Given the description of an element on the screen output the (x, y) to click on. 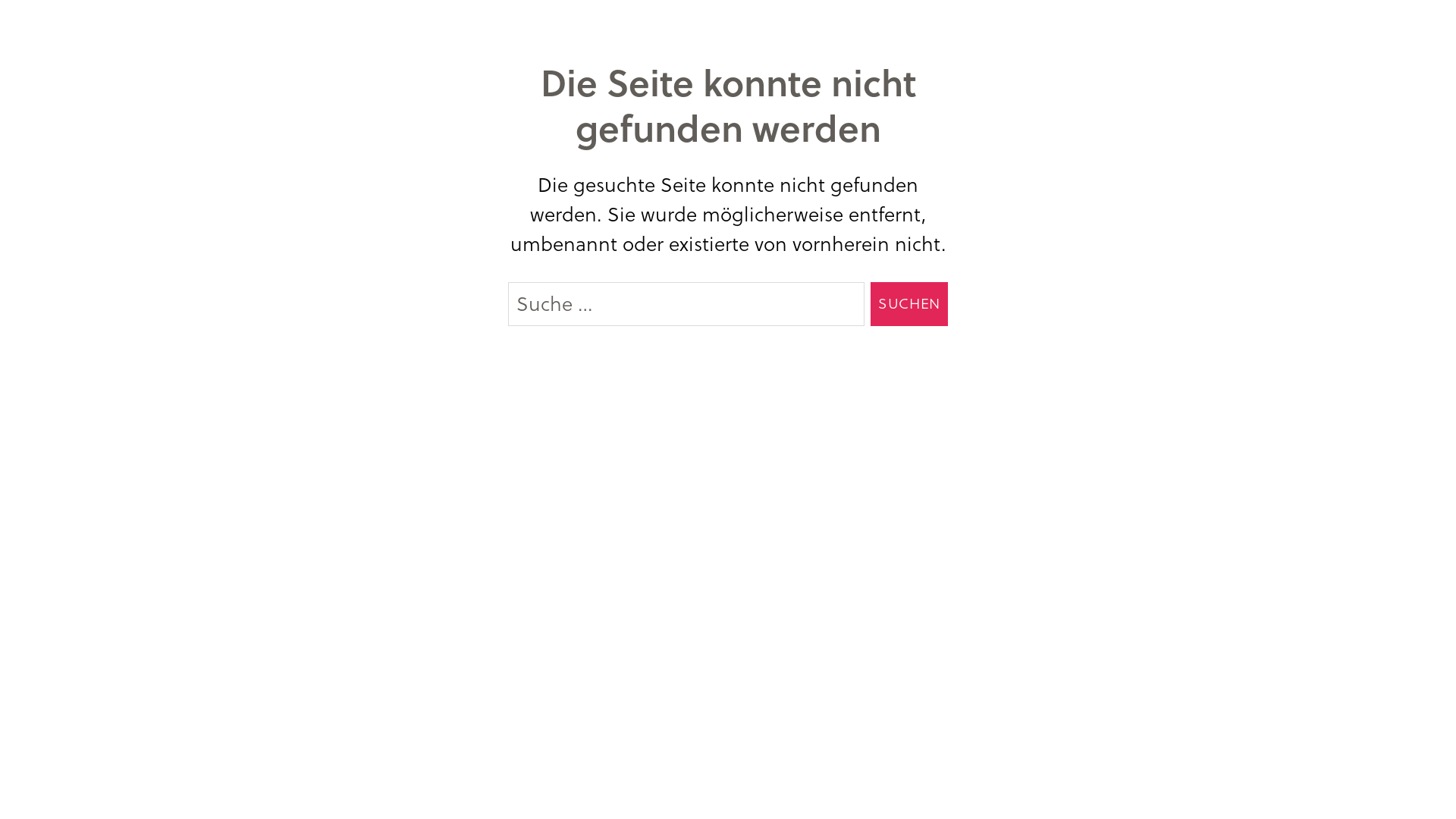
Suchen Element type: text (908, 304)
